Given the description of an element on the screen output the (x, y) to click on. 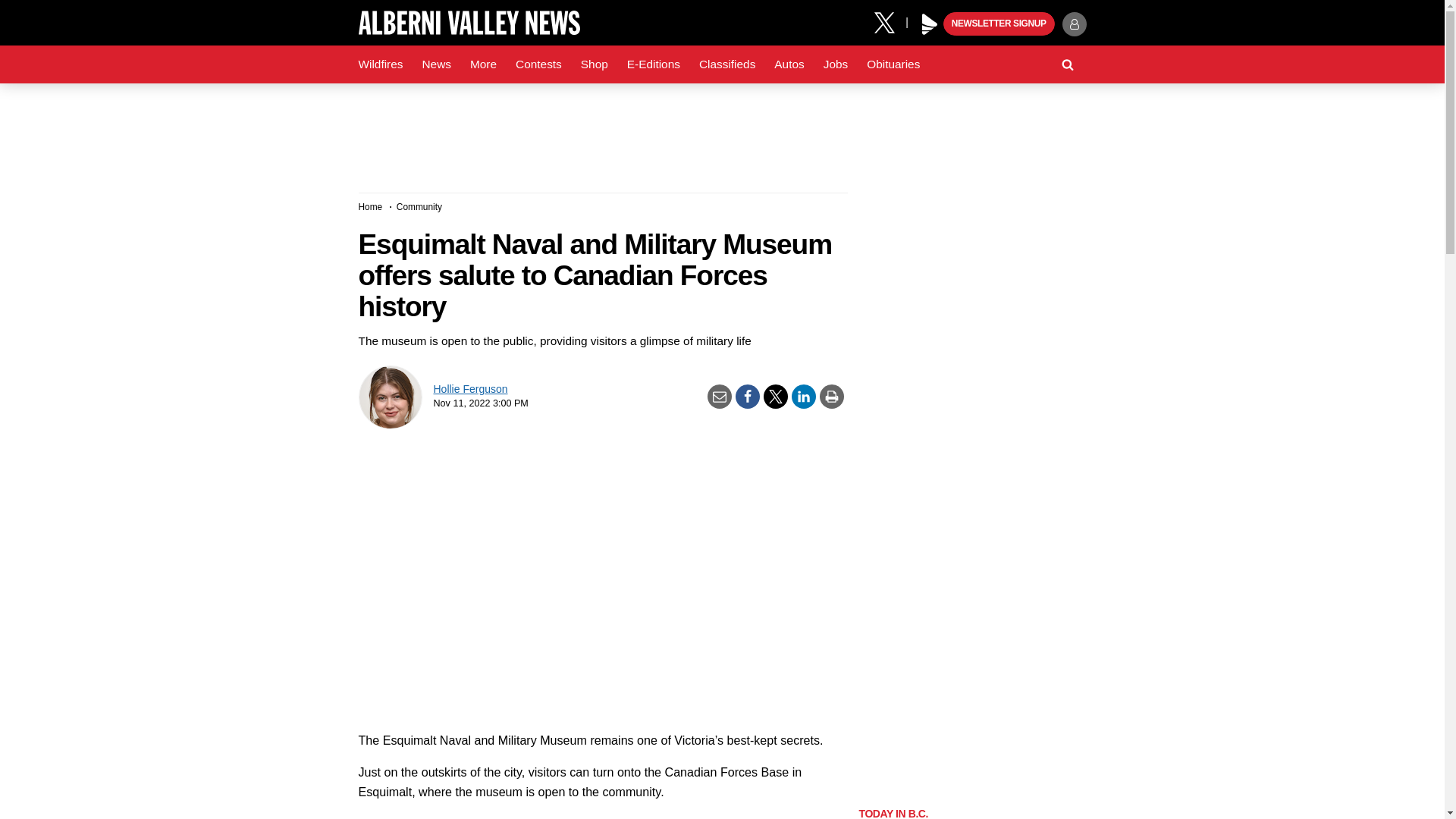
News (435, 64)
NEWSLETTER SIGNUP (998, 24)
Wildfires (380, 64)
Black Press Media (929, 24)
X (889, 21)
Play (929, 24)
